Given the description of an element on the screen output the (x, y) to click on. 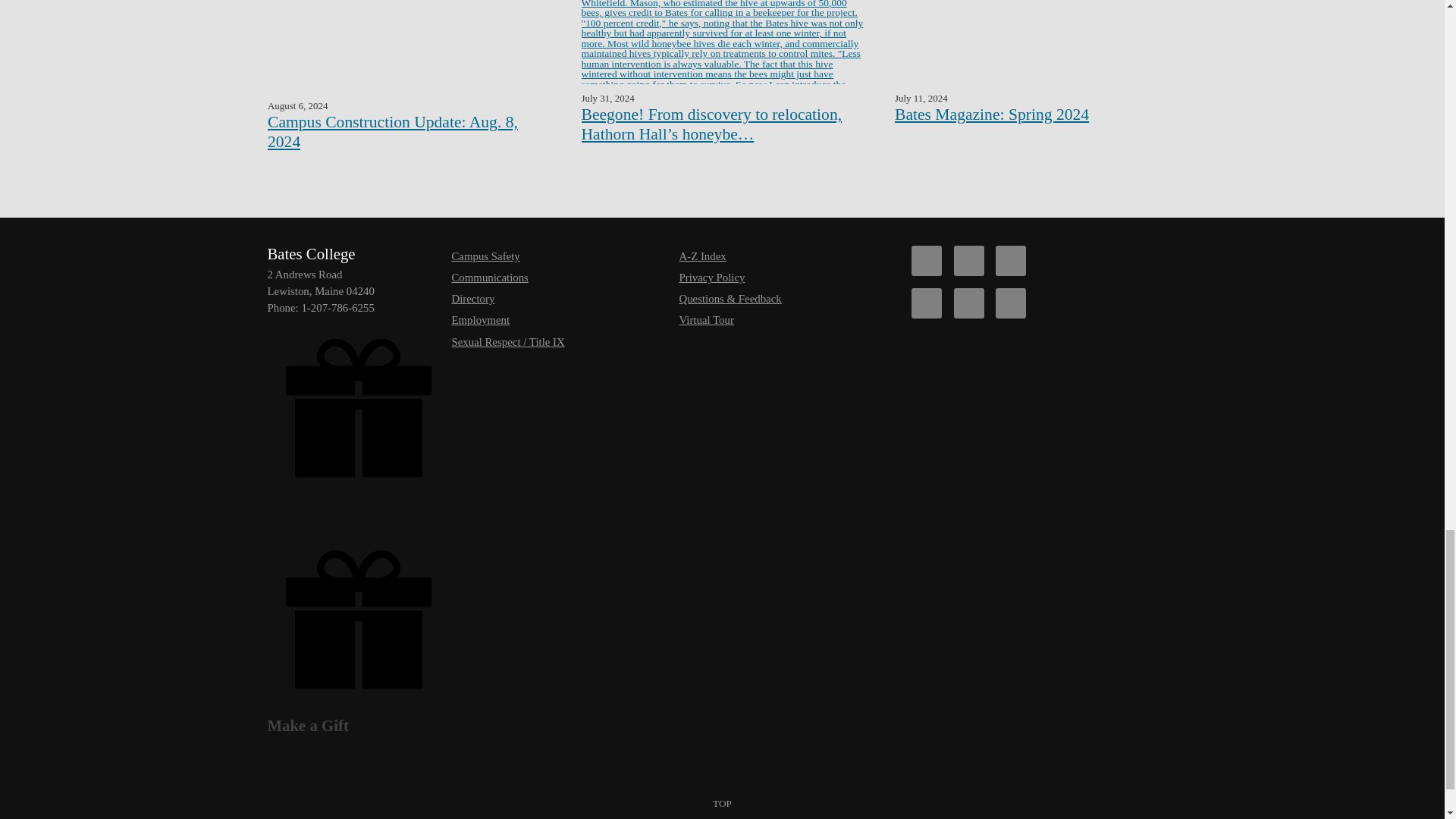
YouTube icon (968, 303)
Tiktok icon (1010, 260)
Instagram icon (926, 303)
LinkedIn icon (1010, 303)
Facebook icon (926, 260)
Twitter icon (968, 260)
